Given the description of an element on the screen output the (x, y) to click on. 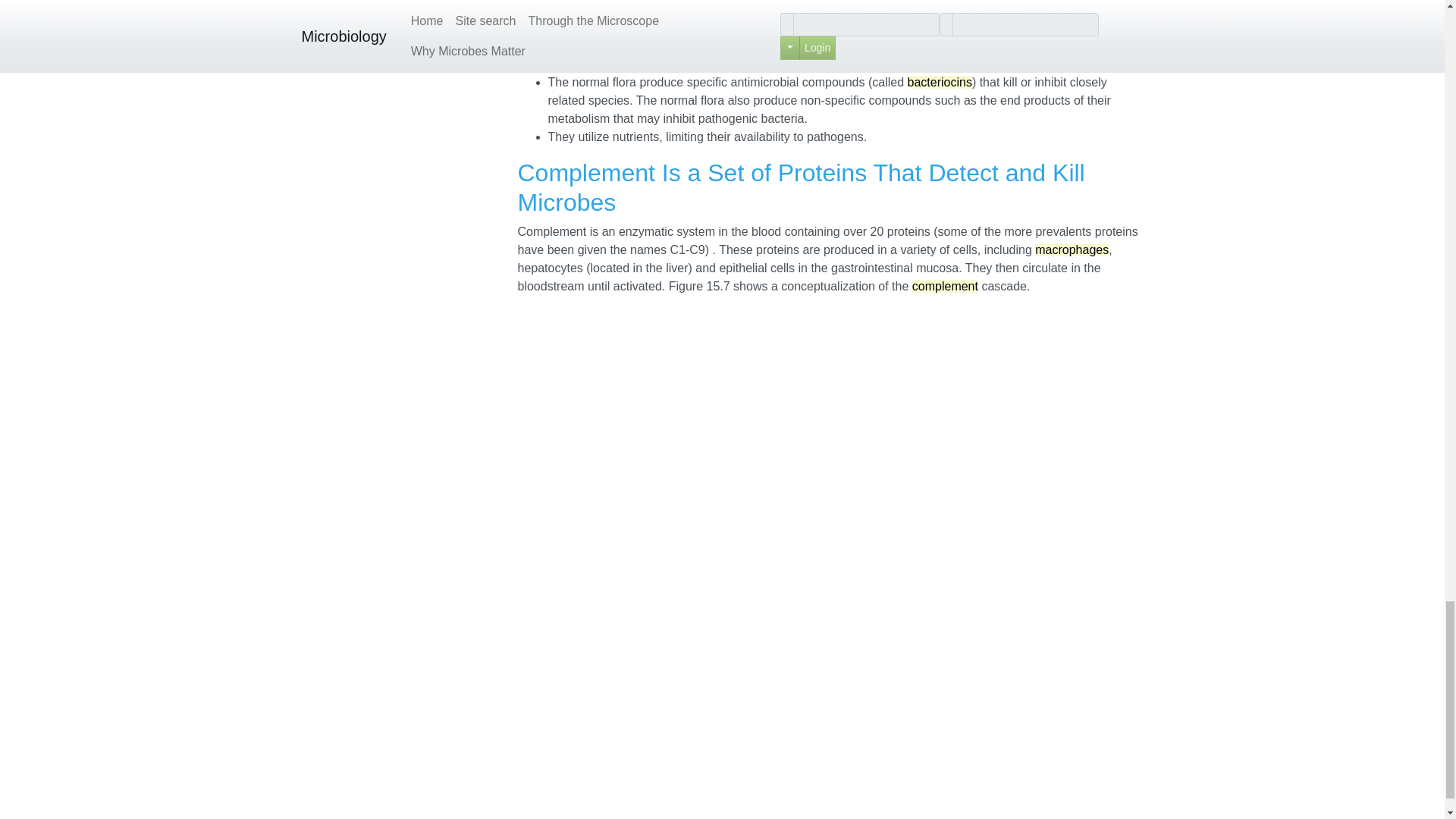
bacteriocins (939, 82)
complement (945, 286)
macrophages (1071, 249)
